Given the description of an element on the screen output the (x, y) to click on. 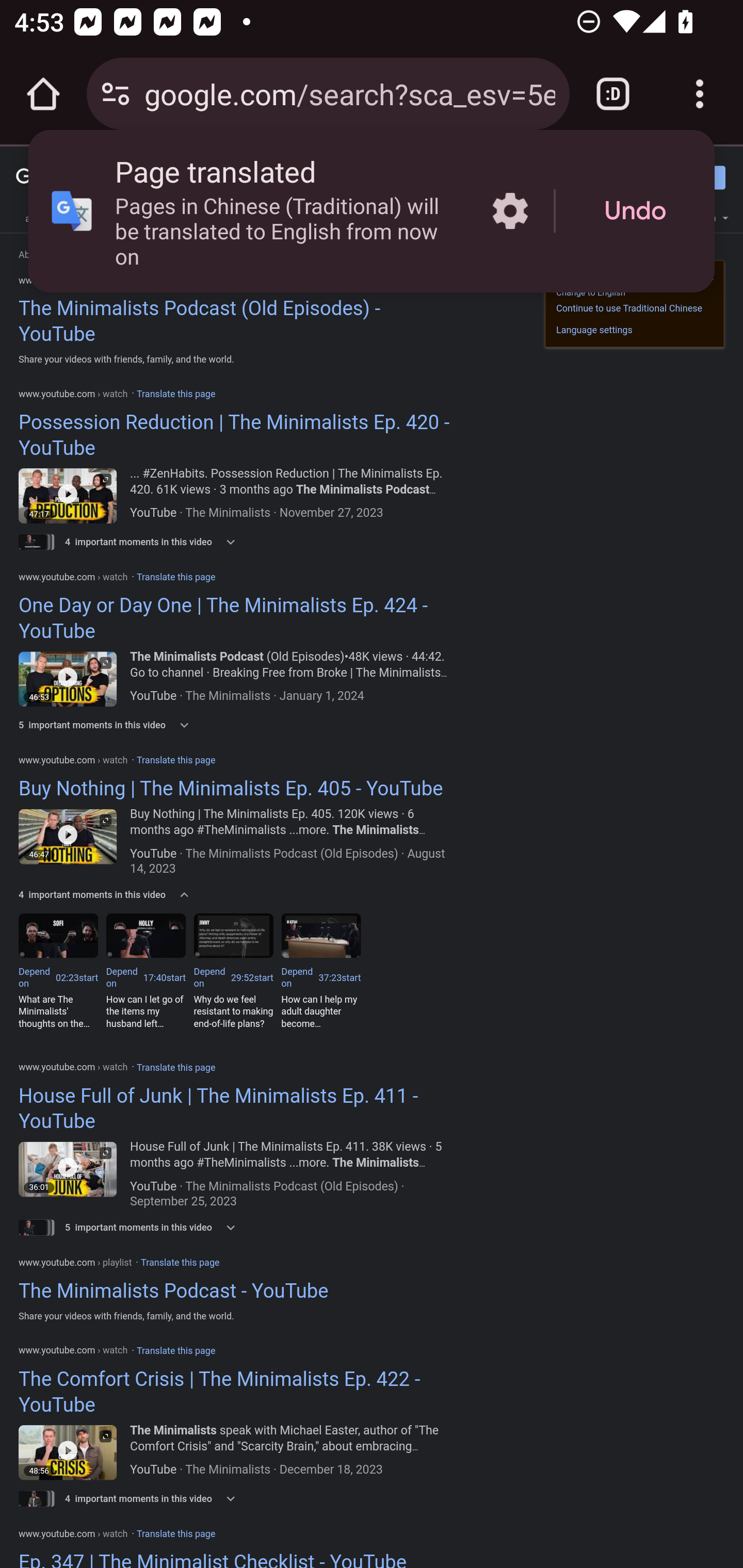
Open the home page (43, 93)
Connection is secure (115, 93)
Switch or close tabs (612, 93)
Customize and control Google Chrome (699, 93)
Undo (634, 211)
More options in the Page translated (509, 210)
Language settings (594, 329)
Translate this page (175, 394)
4  important moments  in this video (124, 541)
Translate this page (175, 576)
5  important moments  in this video (124, 724)
Translate this page (175, 759)
4  important moments  in this video (124, 894)
Translate this page (175, 1066)
5  important moments  in this video (124, 1226)
Translate this page (180, 1262)
Translate this page (175, 1350)
4  important moments  in this video (124, 1497)
Translate this page (175, 1534)
